Given the description of an element on the screen output the (x, y) to click on. 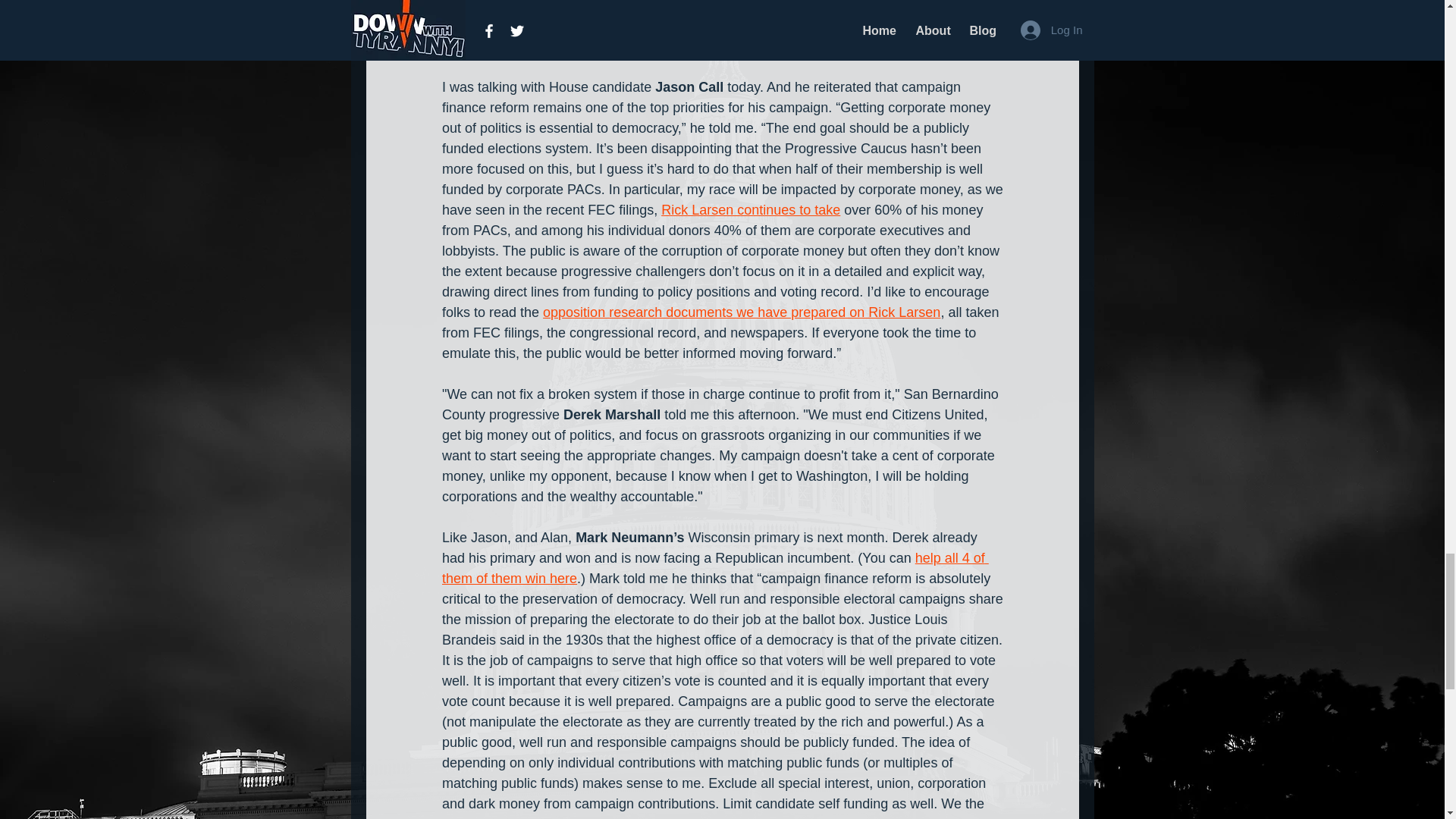
help all 4 of them of them win here (714, 568)
Rick Larsen continues to take (750, 209)
